Given the description of an element on the screen output the (x, y) to click on. 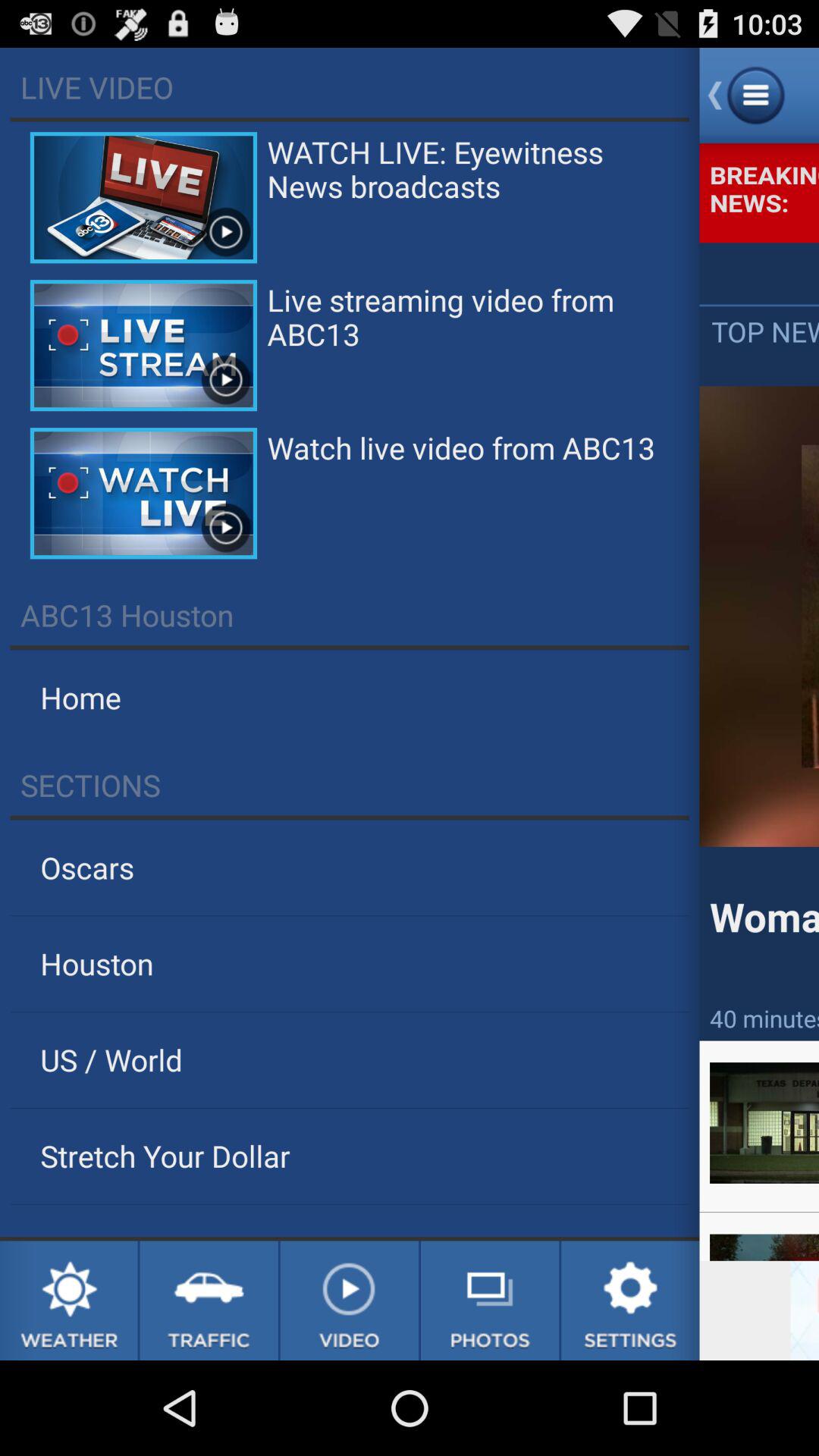
settings (630, 1300)
